Given the description of an element on the screen output the (x, y) to click on. 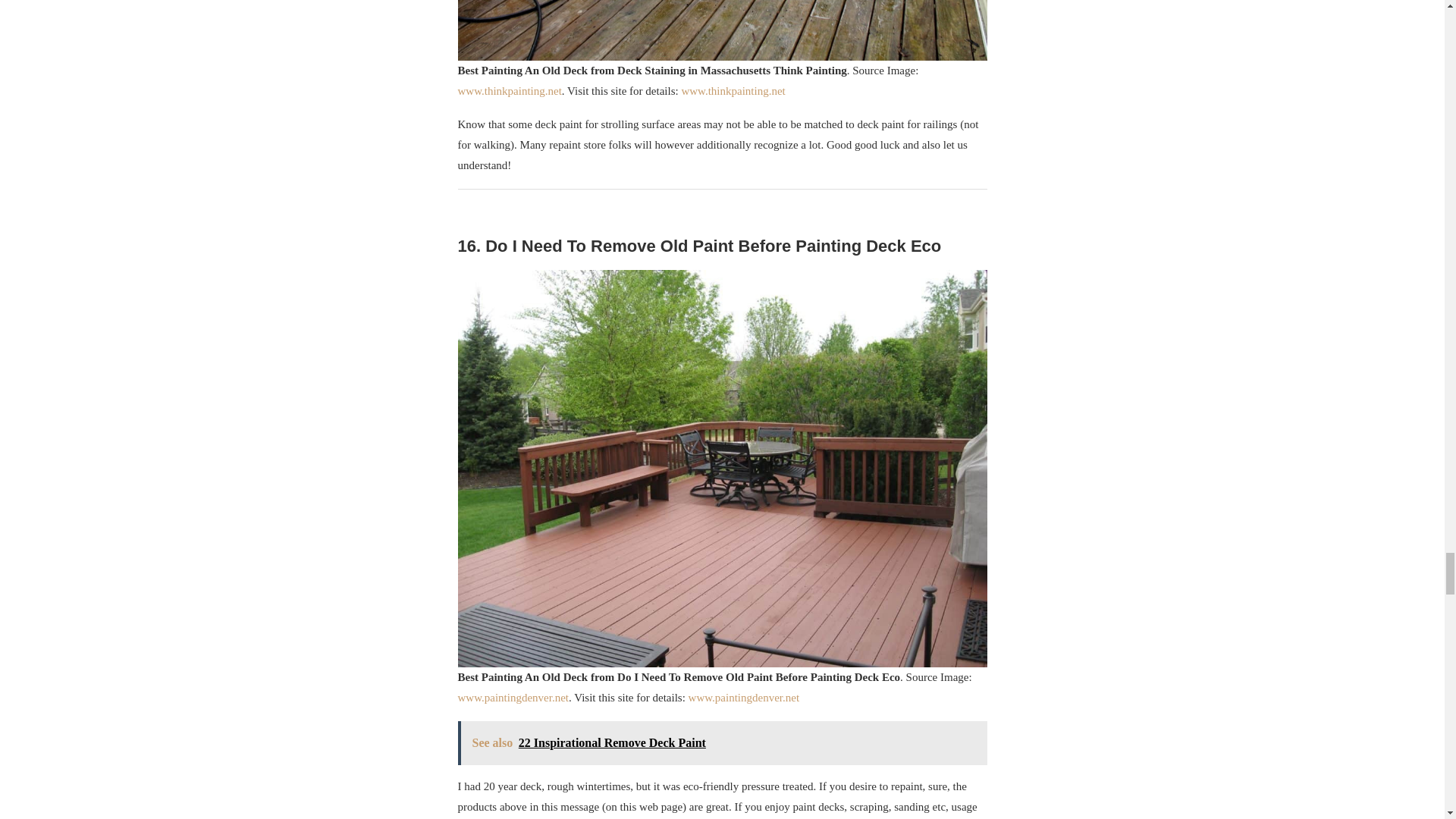
deck staining and restorations (722, 30)
